Given the description of an element on the screen output the (x, y) to click on. 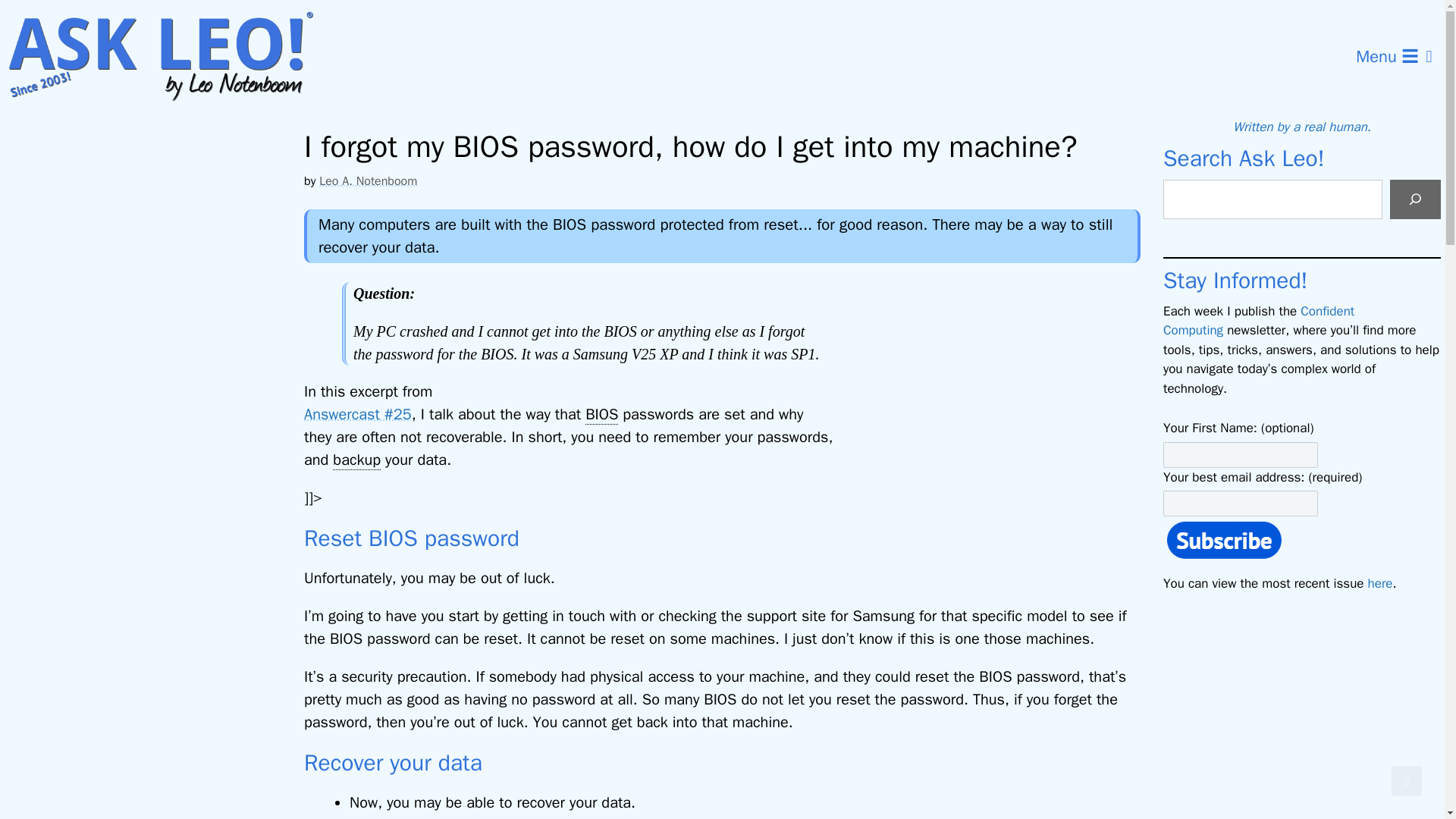
Confident Computing (1258, 321)
Written by a real human. (1302, 126)
Ask Leo! (170, 56)
BIOS (601, 414)
backup (356, 460)
here (1380, 582)
Scroll back to top (1406, 780)
Ask Leo! (165, 56)
Leo A. Notenboom (367, 180)
